Given the description of an element on the screen output the (x, y) to click on. 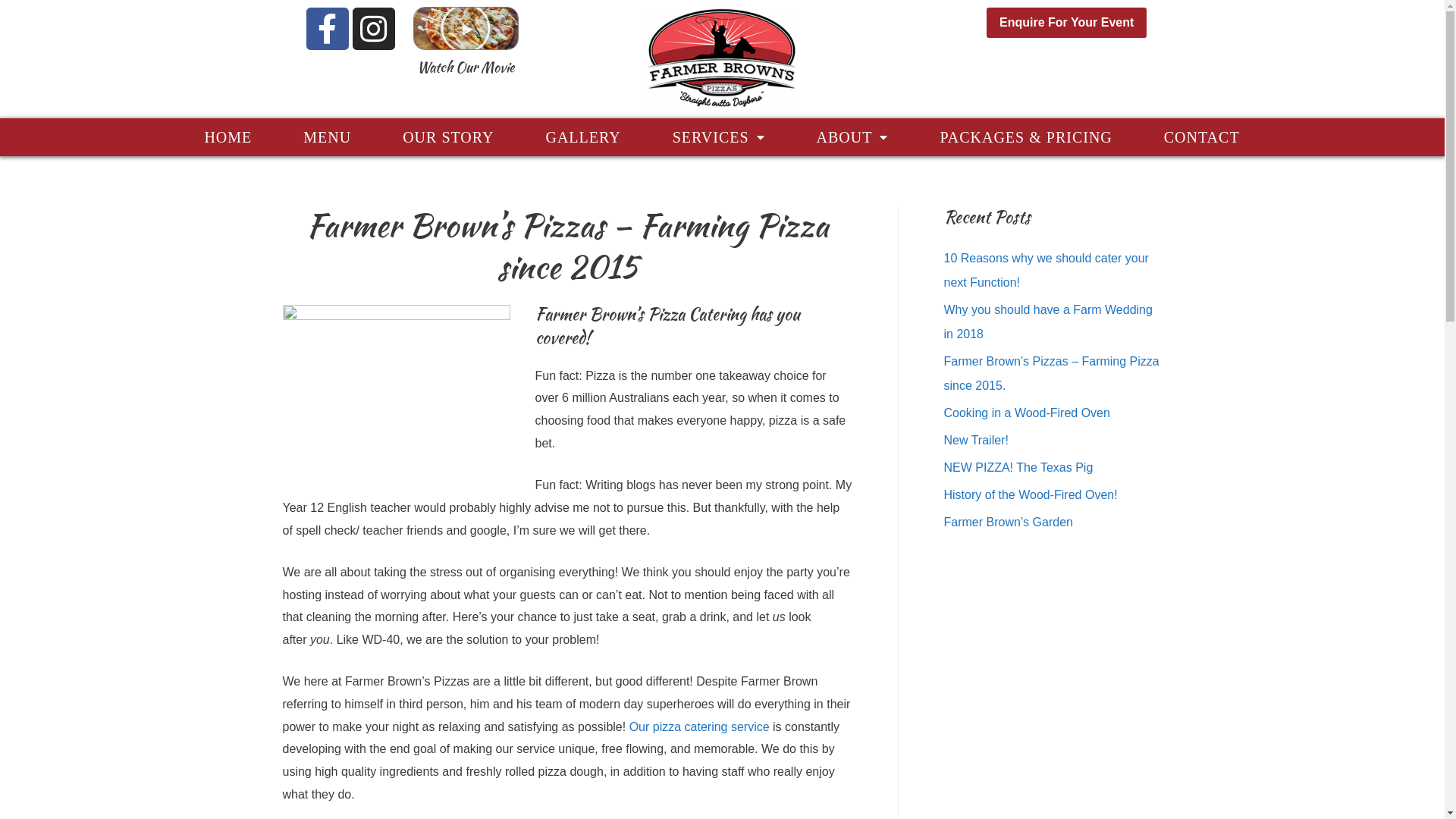
Enquire For Your Event Element type: text (1066, 22)
SERVICES Element type: text (718, 137)
New Trailer! Element type: text (975, 439)
HOME Element type: text (227, 137)
GALLERY Element type: text (582, 137)
PACKAGES & PRICING Element type: text (1025, 137)
NEW PIZZA! The Texas Pig Element type: text (1017, 467)
Cooking in a Wood-Fired Oven Element type: text (1026, 412)
farmer-browns-pizzas-logo1 Element type: hover (721, 58)
ABOUT Element type: text (852, 137)
OUR STORY Element type: text (447, 137)
MENU Element type: text (327, 137)
pizza-photo-chicken-post_Oct Element type: hover (465, 28)
History of the Wood-Fired Oven! Element type: text (1030, 494)
Our pizza catering service Element type: text (699, 726)
CONTACT Element type: text (1201, 137)
Why you should have a Farm Wedding in 2018 Element type: text (1047, 321)
10 Reasons why we should cater your next Function! Element type: text (1045, 269)
